Given the description of an element on the screen output the (x, y) to click on. 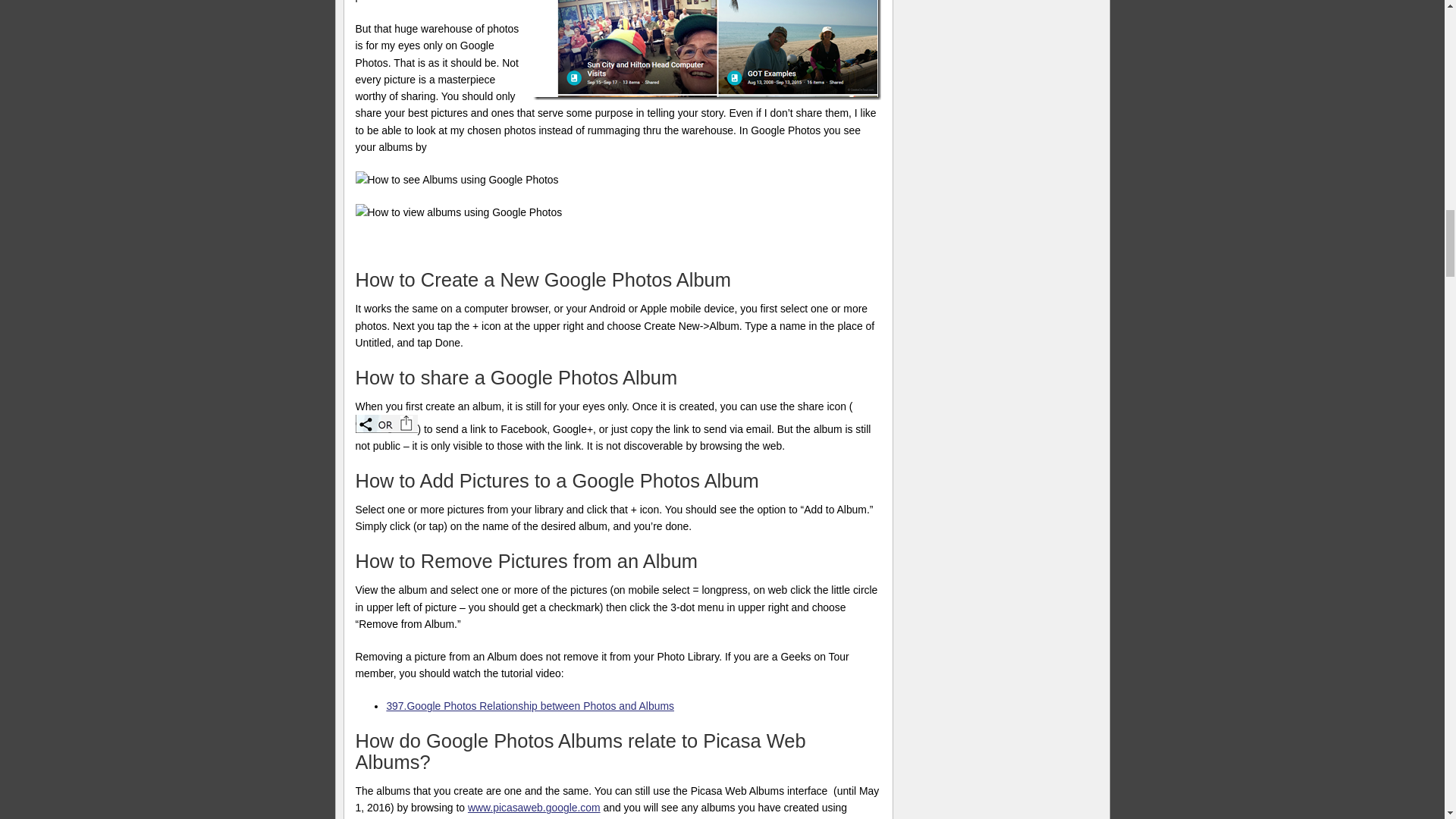
www.picasaweb.google.com (533, 807)
397.Google Photos Relationship between Photos and Albums (529, 705)
image (385, 423)
image (706, 49)
